Given the description of an element on the screen output the (x, y) to click on. 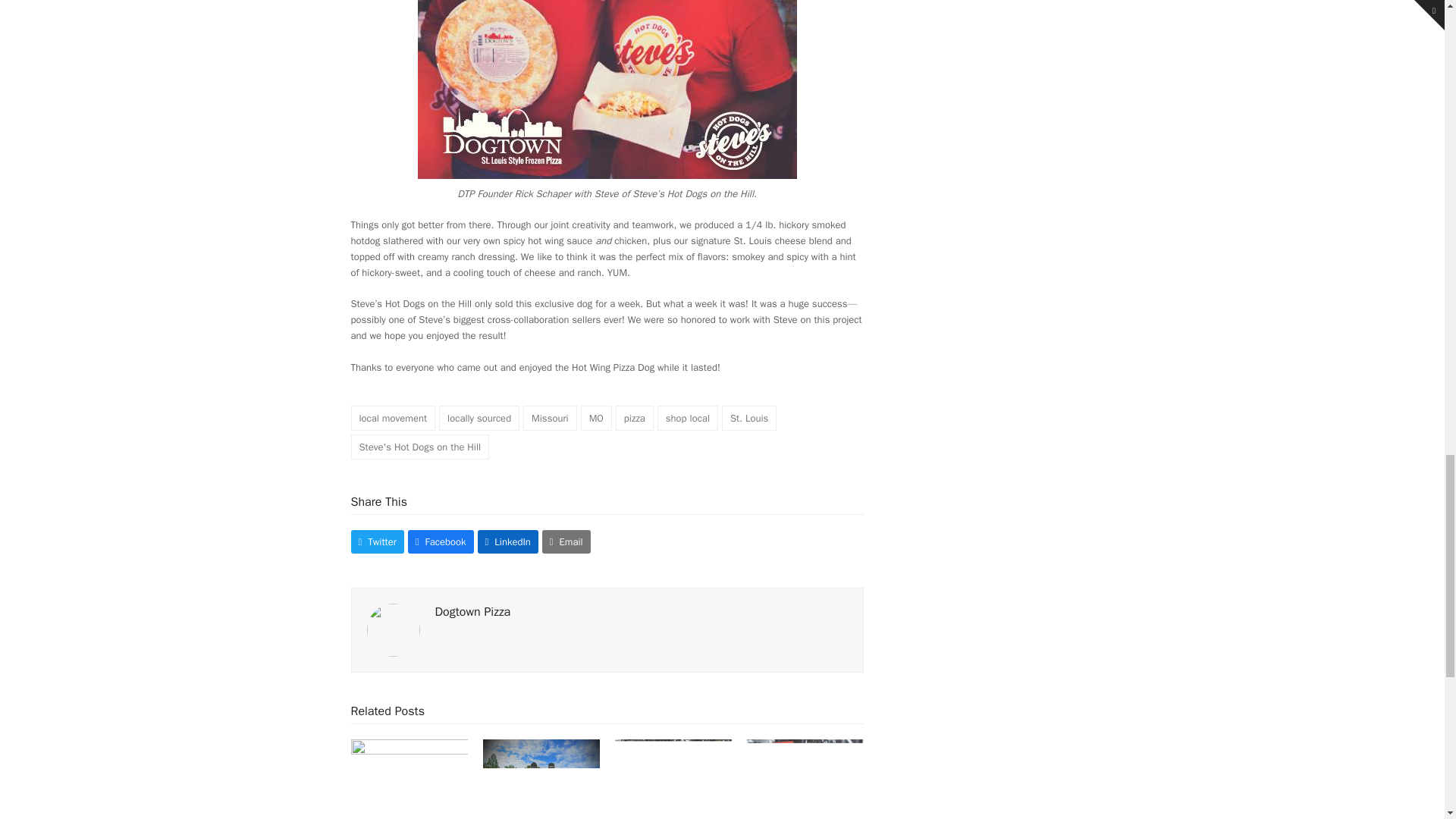
LinkedIn (507, 541)
Facebook (440, 541)
Email (566, 541)
Missouri (549, 417)
Twitter (376, 541)
Steve's Hot Dogs on the Hill (419, 446)
MO (595, 417)
St. Louis (749, 417)
pizza (634, 417)
Visit Author Page (473, 611)
The History of Dogtown, St. Louis (673, 781)
Visit Author Page (393, 628)
shop local (687, 417)
